Given the description of an element on the screen output the (x, y) to click on. 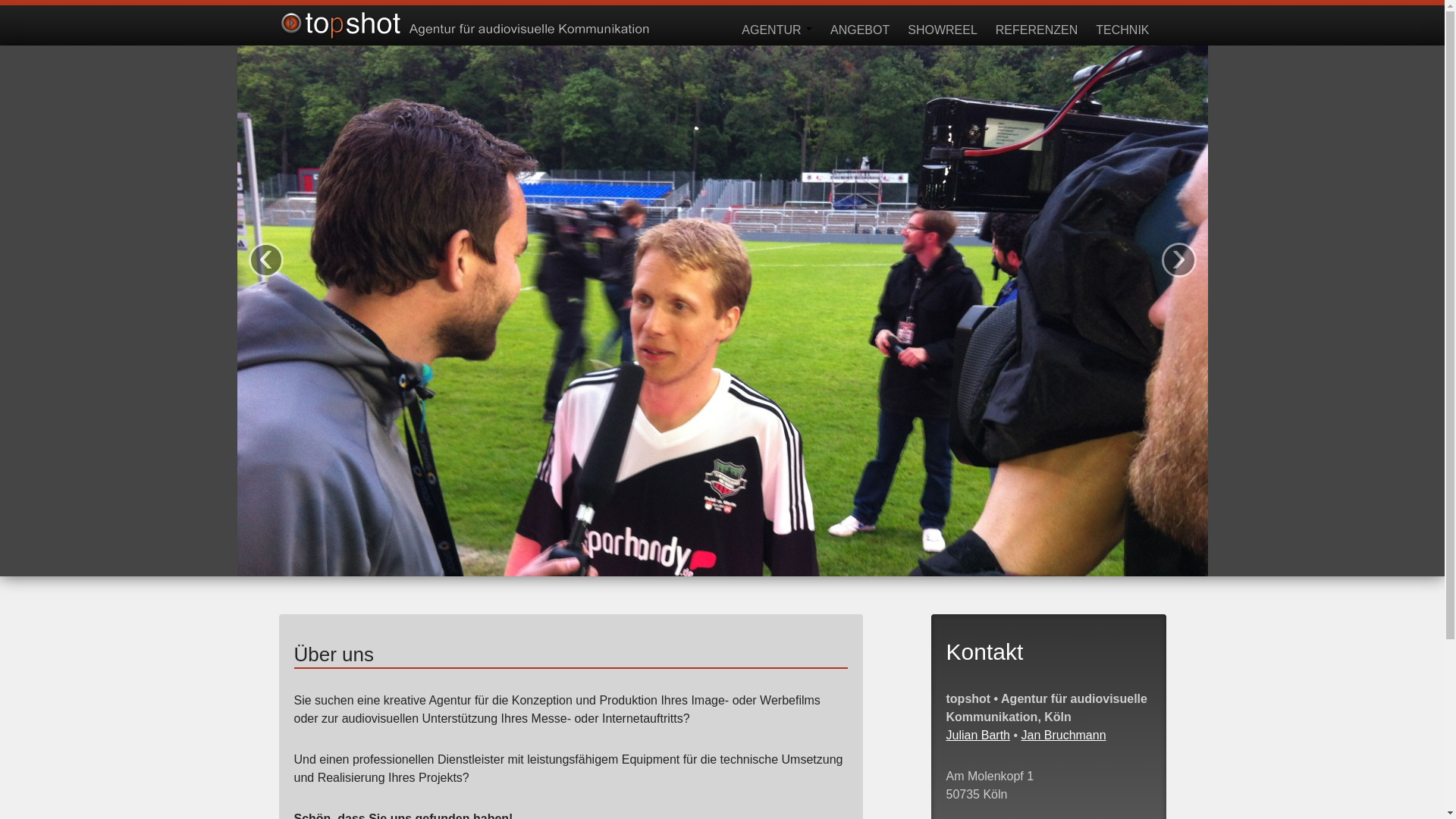
Julian Barth Element type: text (978, 734)
AGENTUR Element type: text (776, 24)
REFERENZEN Element type: text (1036, 24)
Jan Bruchmann Element type: text (1062, 734)
SHOWREEL Element type: text (942, 24)
ANGEBOT Element type: text (859, 24)
TECHNIK Element type: text (1121, 24)
